Given the description of an element on the screen output the (x, y) to click on. 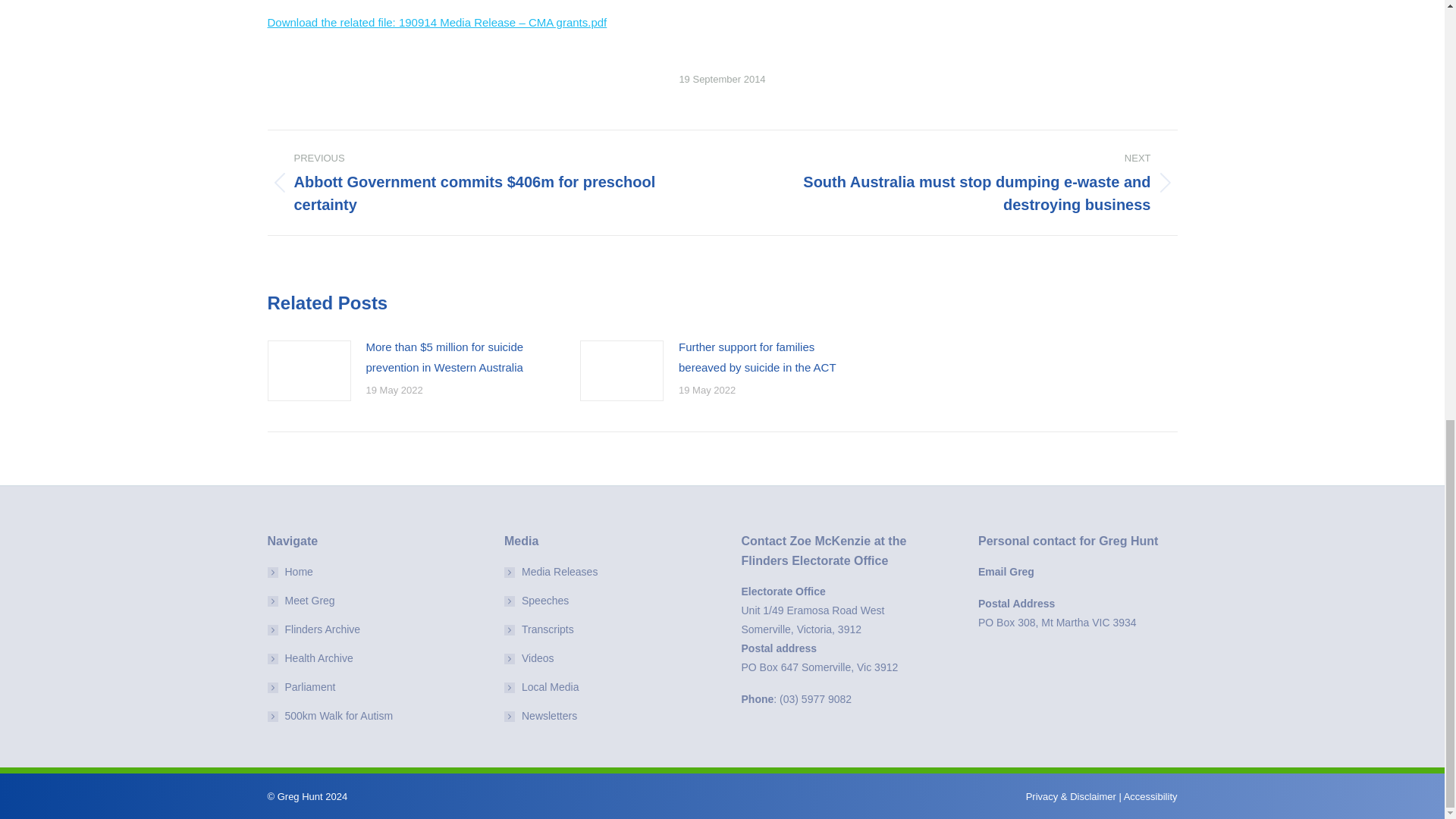
12:00 am (721, 78)
